Given the description of an element on the screen output the (x, y) to click on. 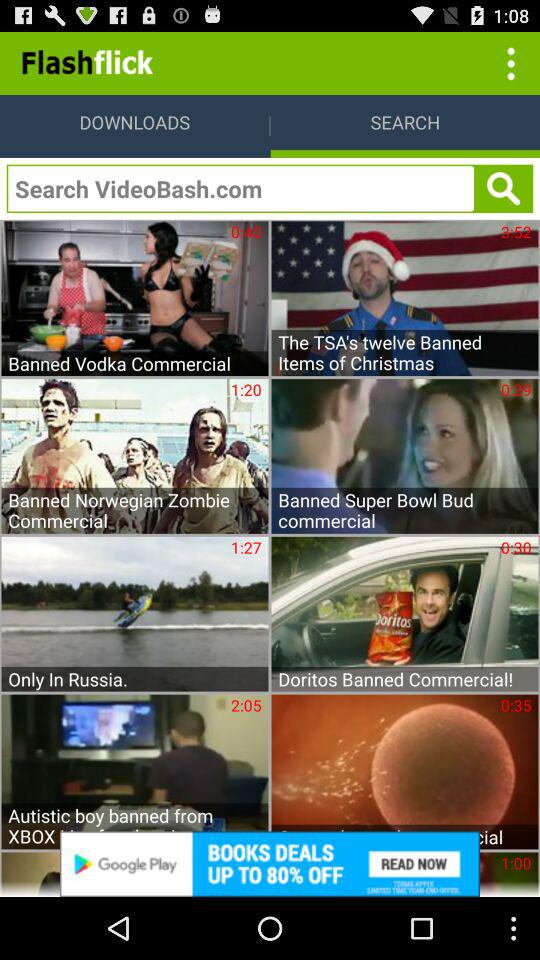
click three dots (508, 62)
